Given the description of an element on the screen output the (x, y) to click on. 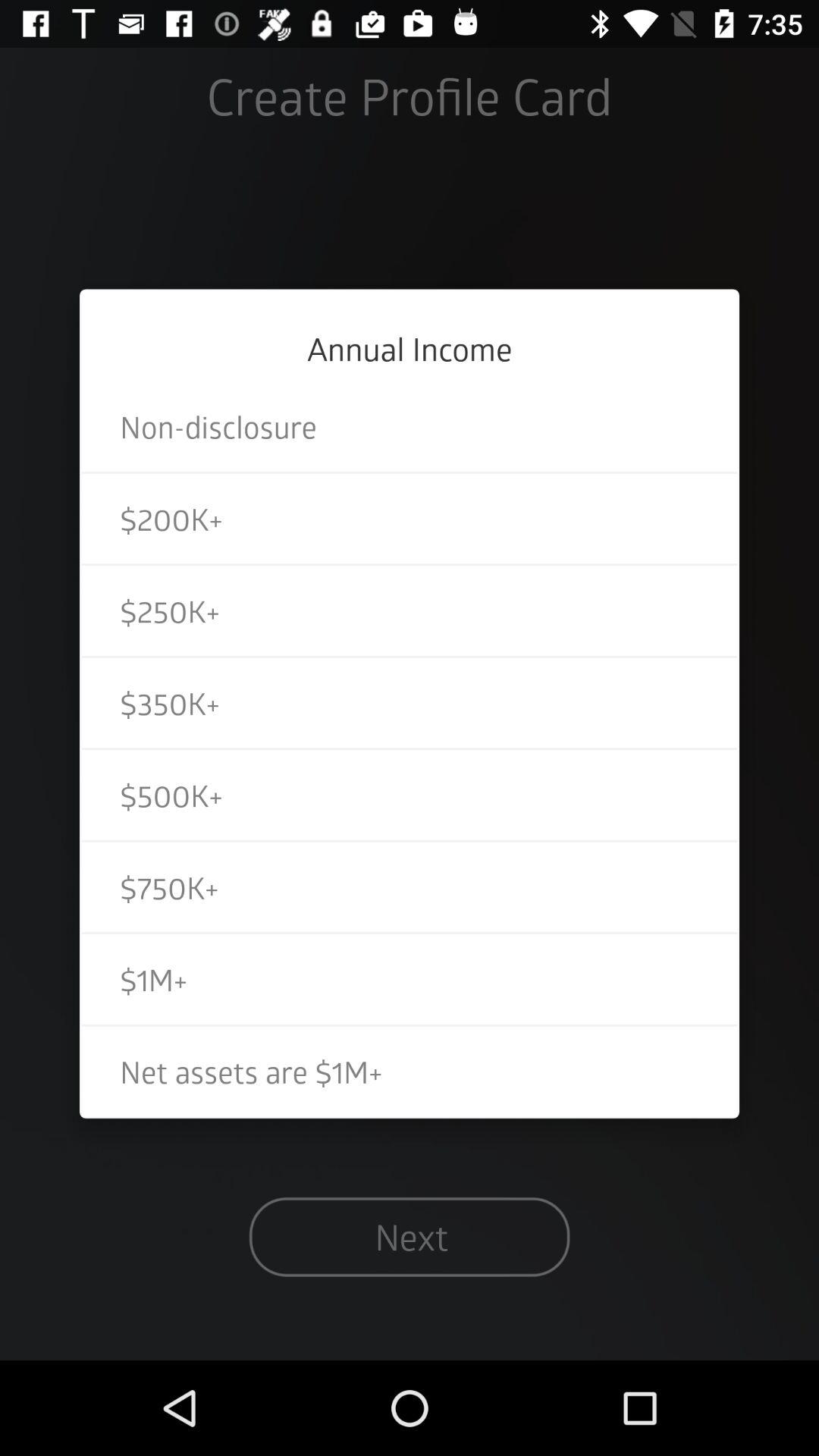
open icon below the $1m+ item (409, 1071)
